Given the description of an element on the screen output the (x, y) to click on. 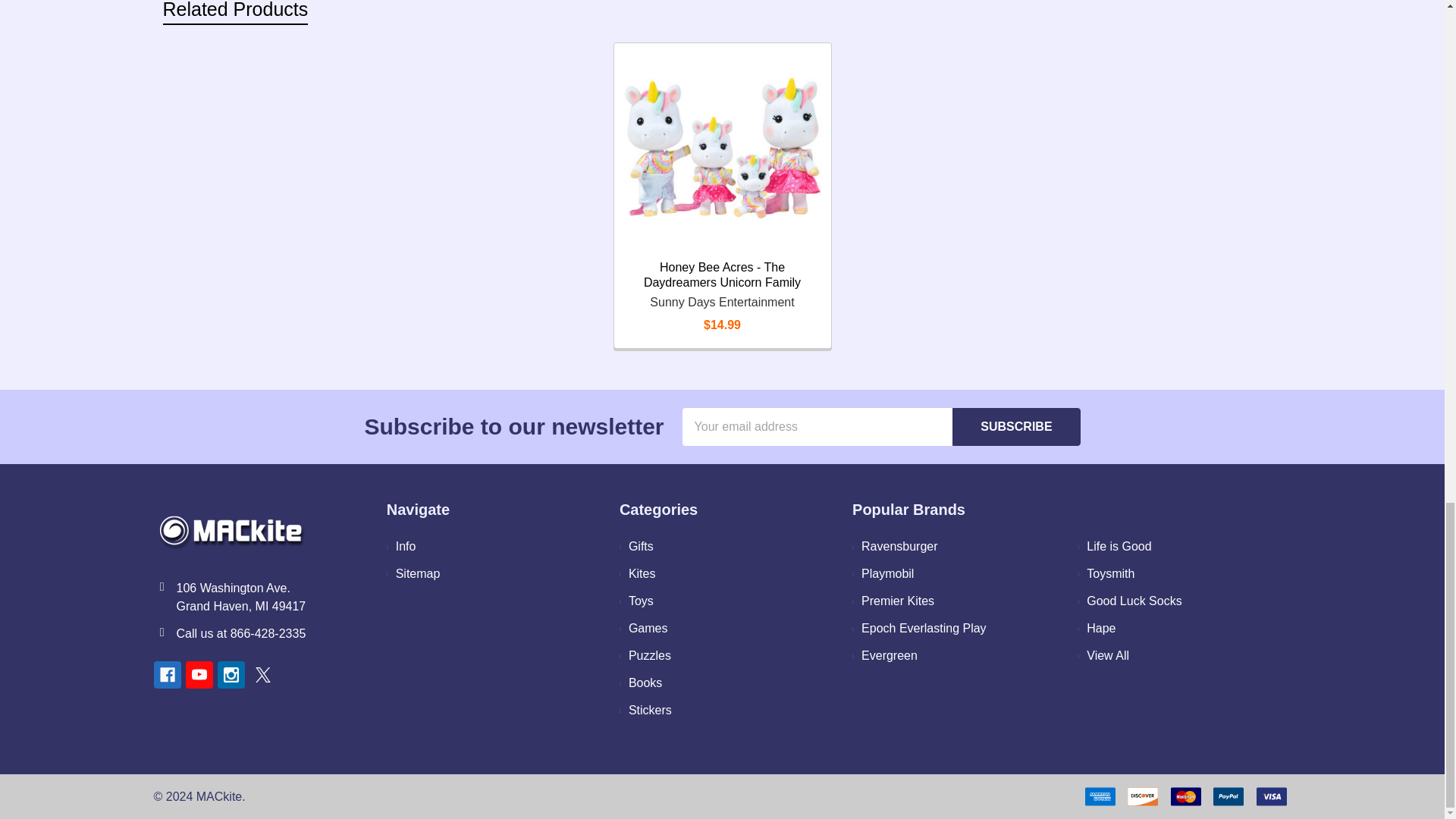
Subscribe (1016, 426)
Honey Bee Acres - The Daydreamers Unicorn Family (722, 151)
